Given the description of an element on the screen output the (x, y) to click on. 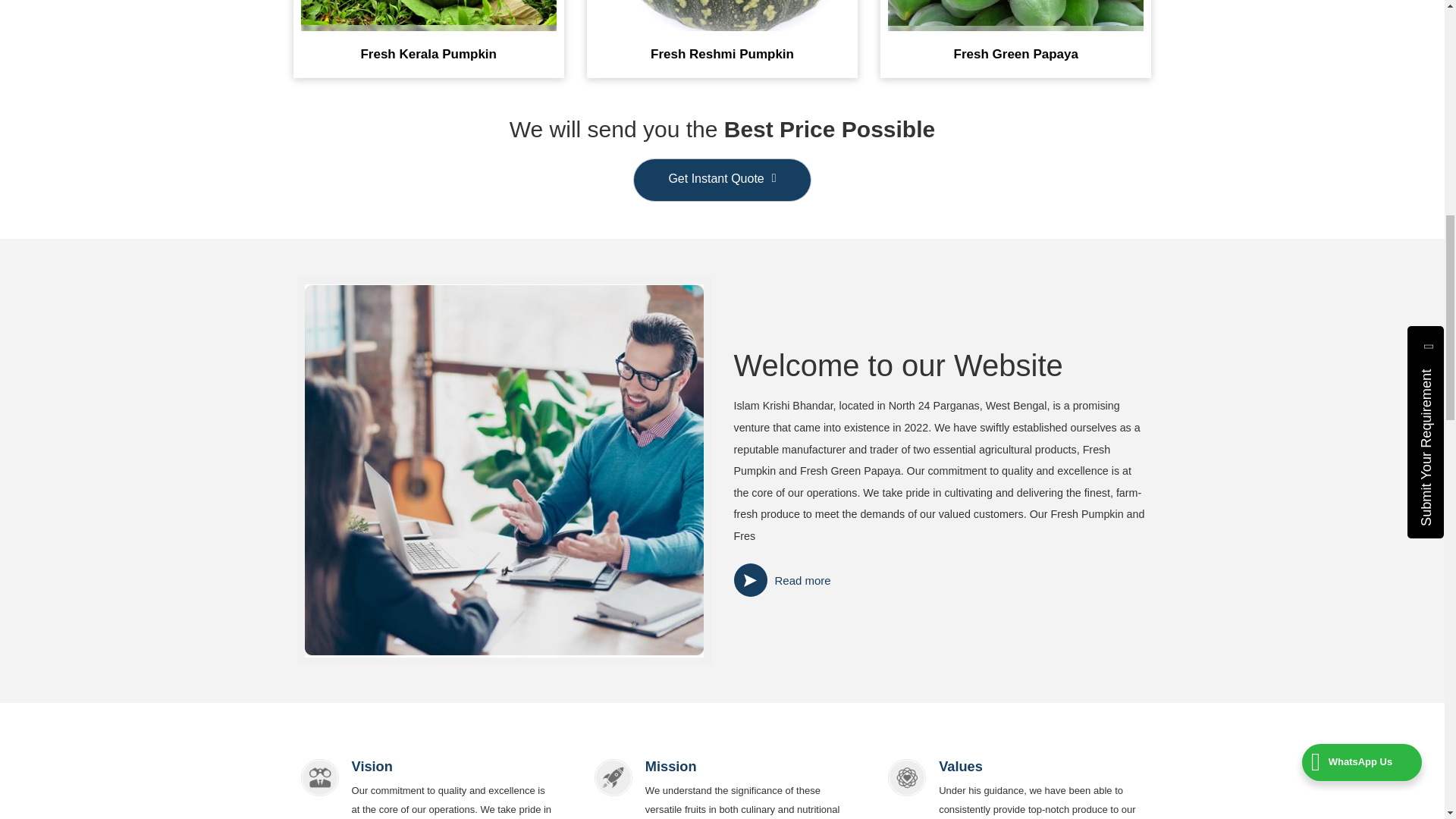
Fresh Kerala Pumpkin (428, 50)
